Given the description of an element on the screen output the (x, y) to click on. 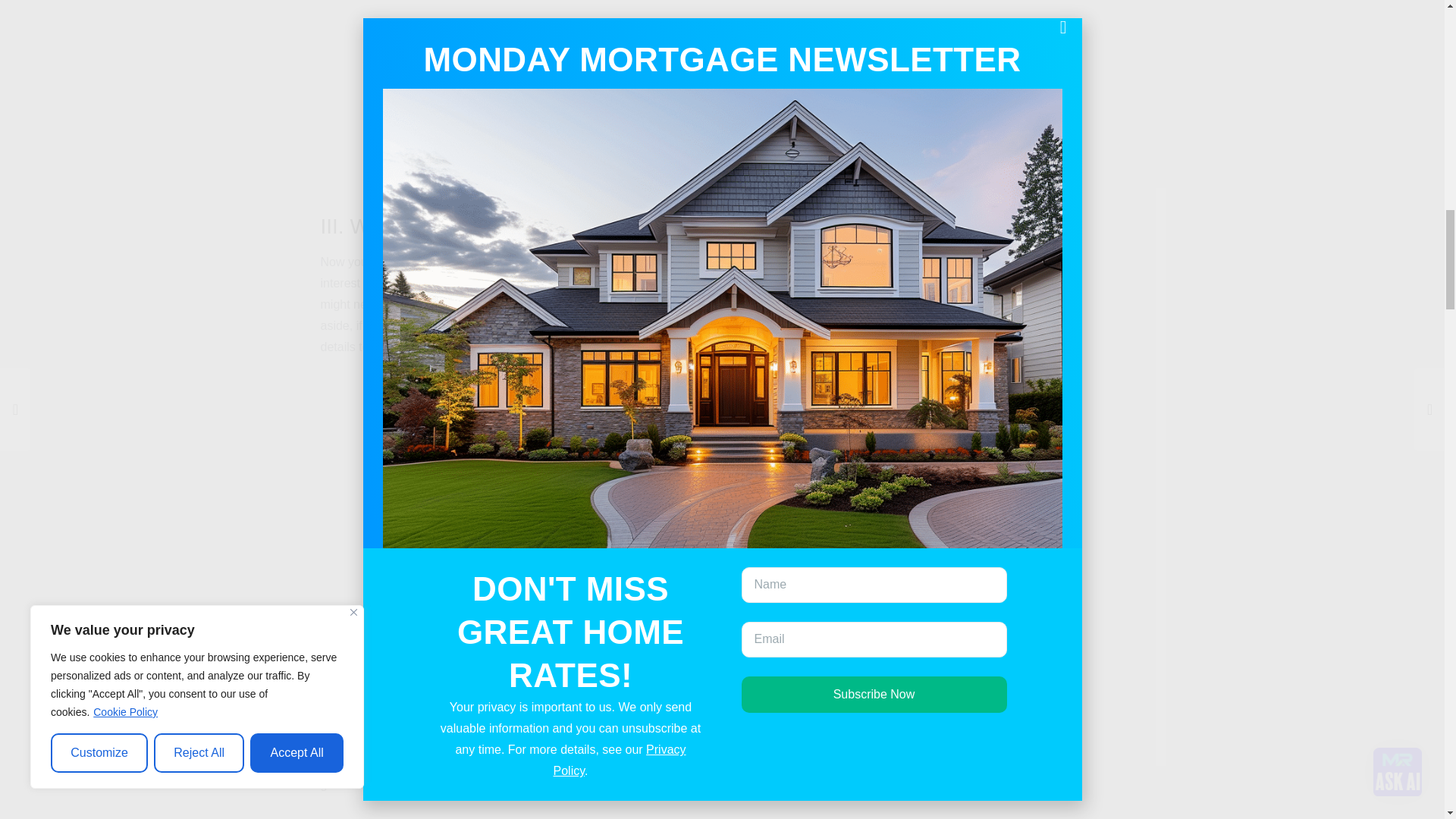
1040 Schedule E (598, 100)
Form 8825 (598, 807)
